Given the description of an element on the screen output the (x, y) to click on. 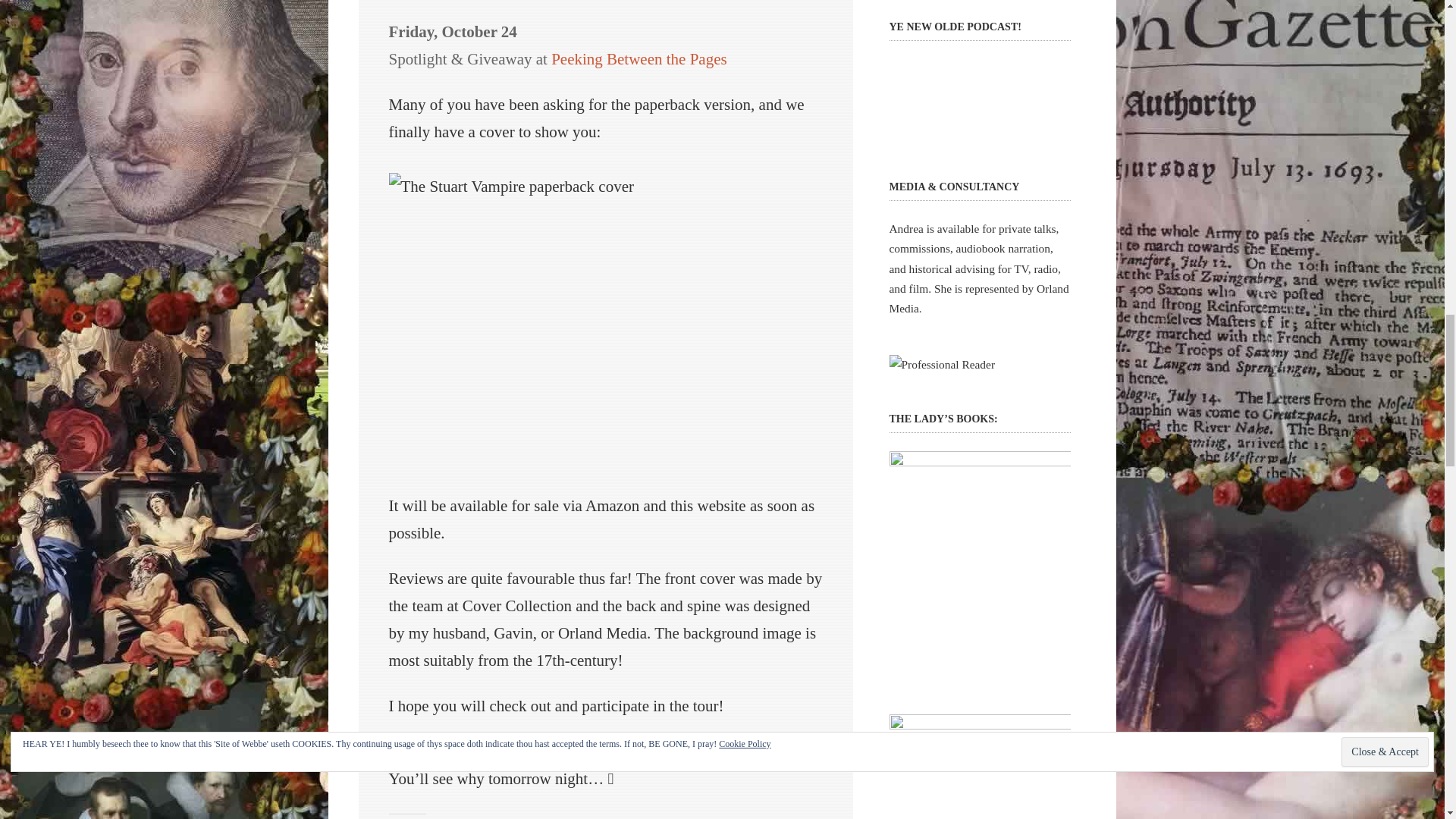
Professional Reader (941, 364)
Peeking Between the Pages (638, 58)
